Given the description of an element on the screen output the (x, y) to click on. 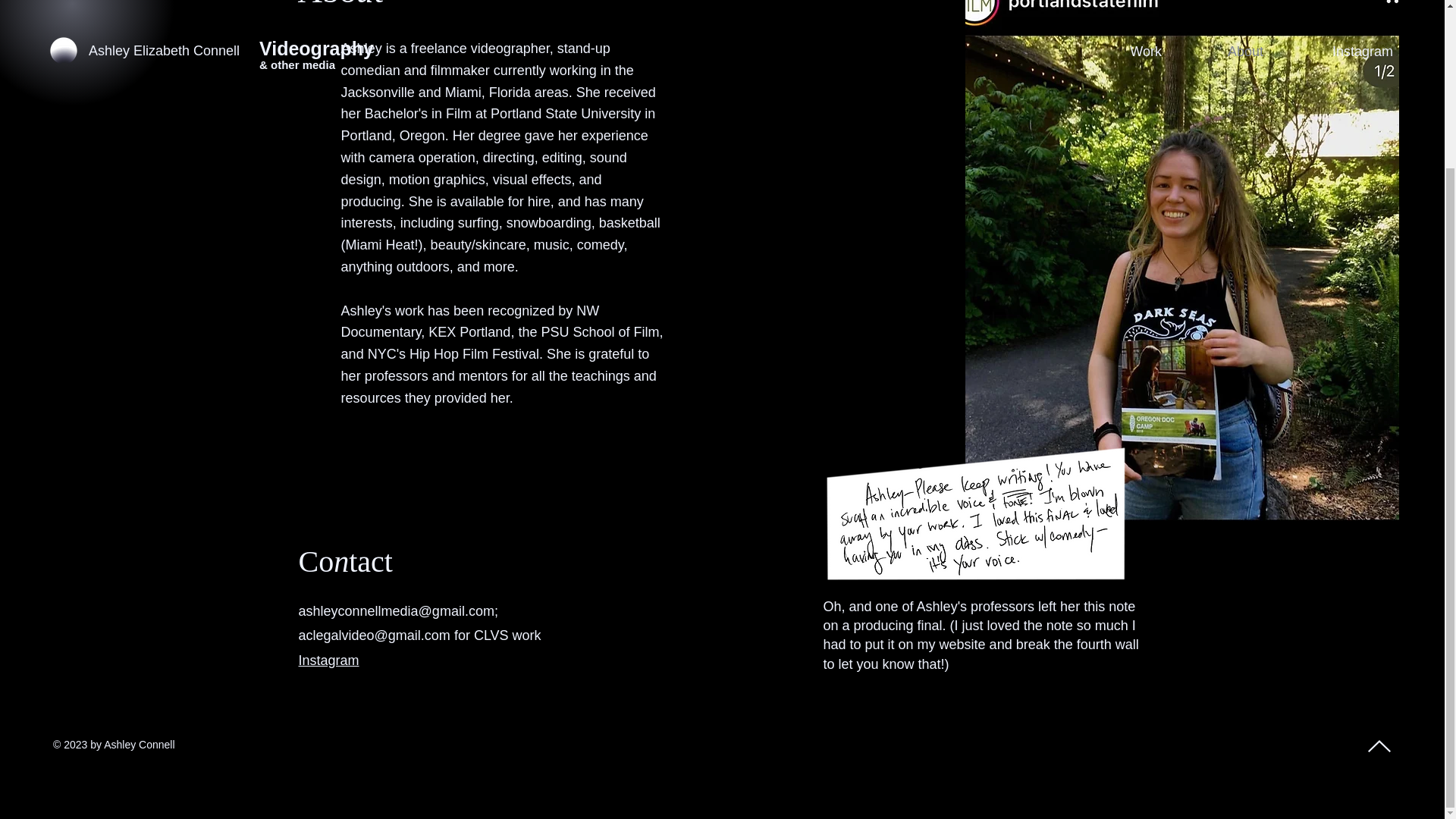
Instagram (328, 660)
